Given the description of an element on the screen output the (x, y) to click on. 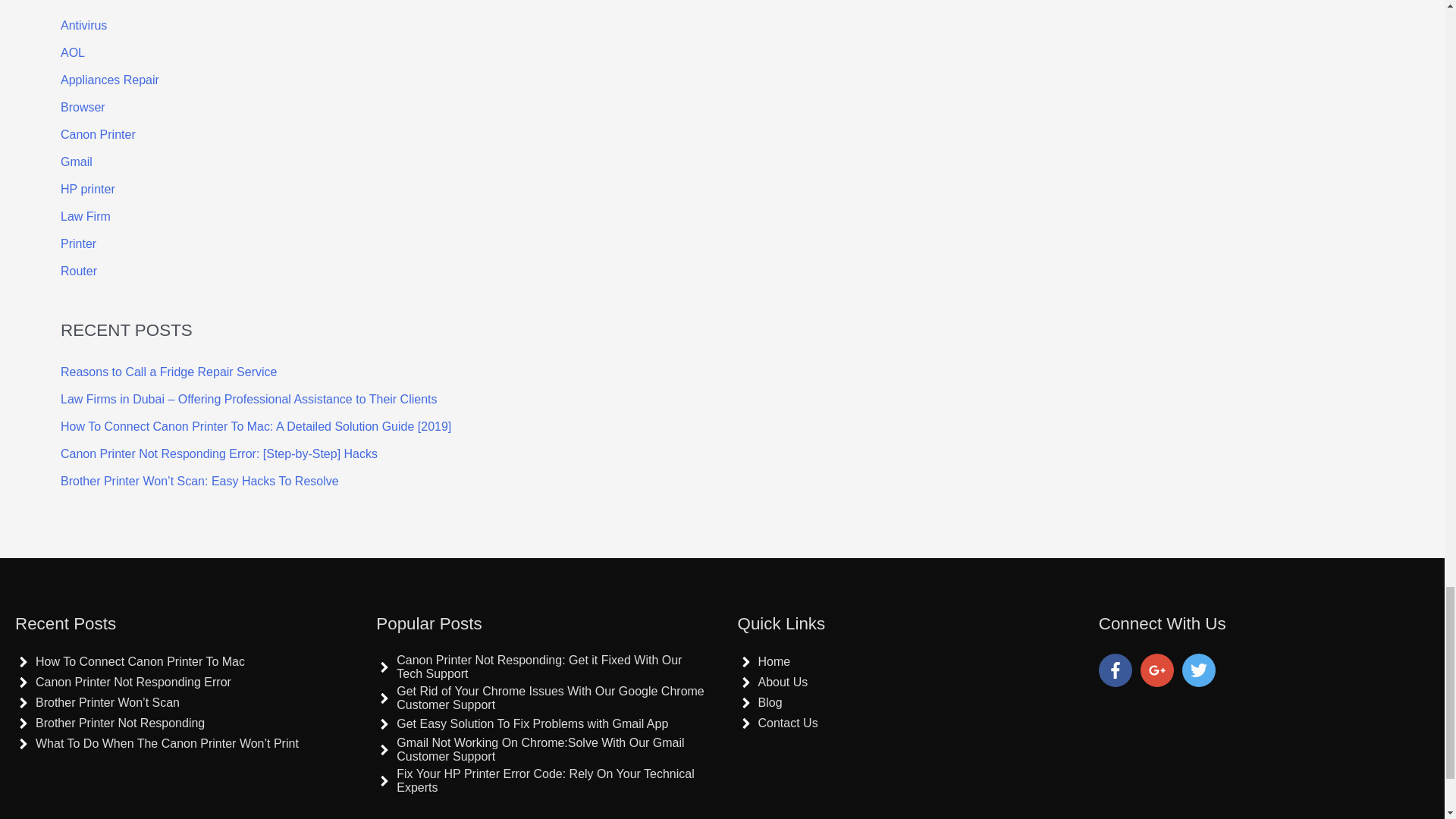
Antivirus (83, 24)
